Given the description of an element on the screen output the (x, y) to click on. 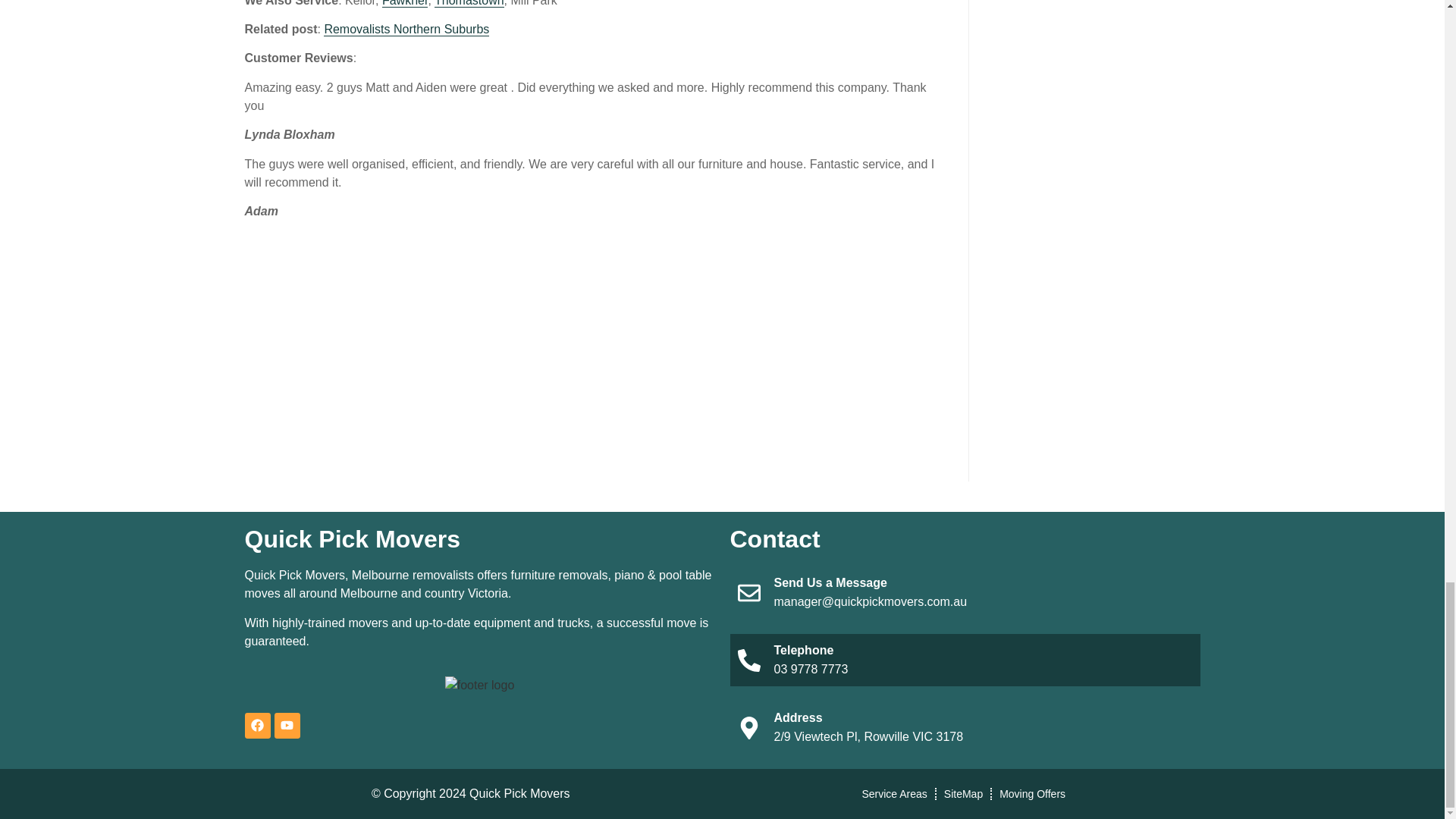
Thomastown (468, 3)
Removalists Northern Suburbs (406, 29)
Service Areas (893, 793)
SiteMap (963, 793)
Service Areas Melbourne (893, 793)
Moving Offers (1032, 793)
Fawkner (404, 3)
